Given the description of an element on the screen output the (x, y) to click on. 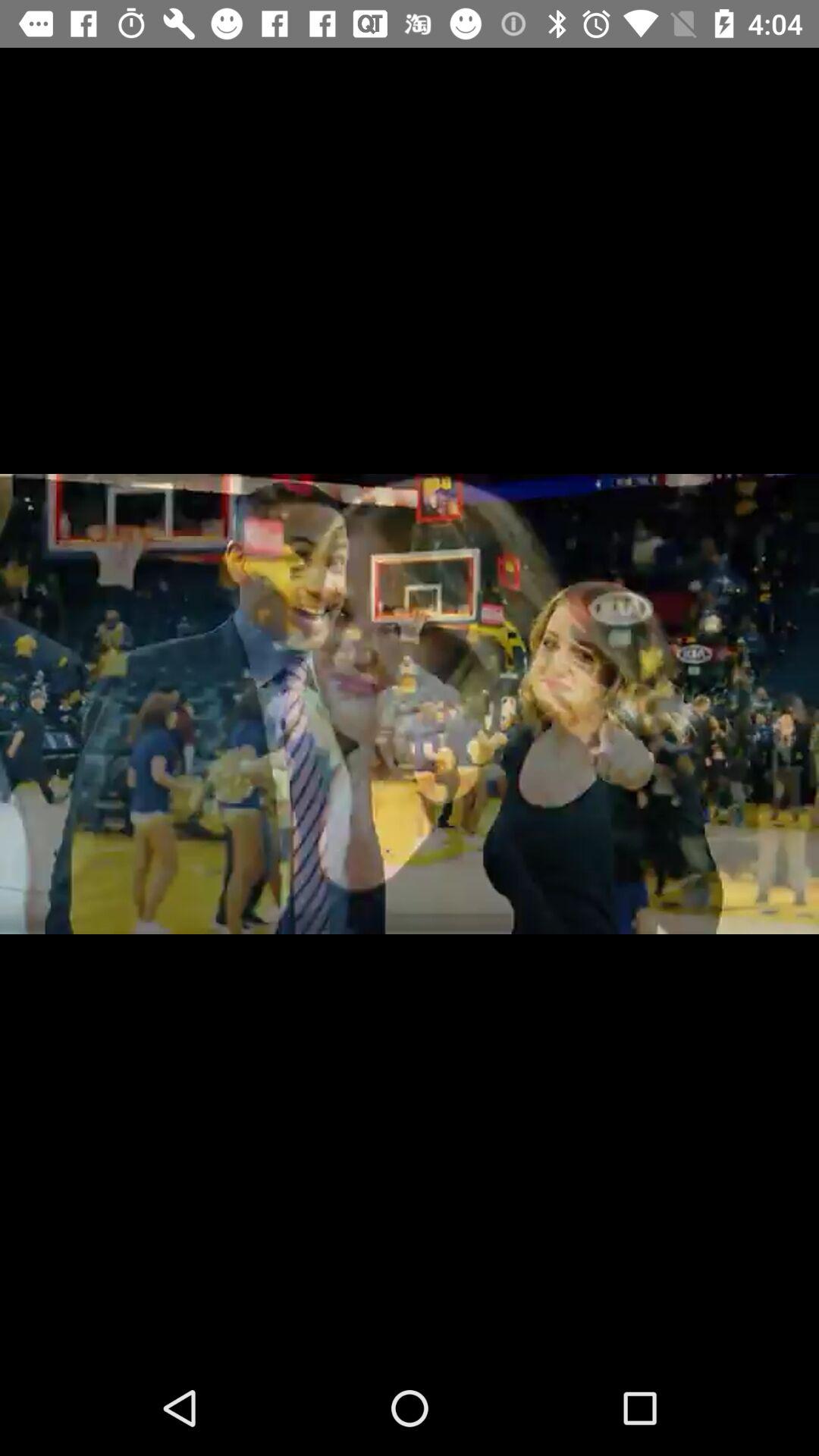
click item at the center (409, 703)
